Given the description of an element on the screen output the (x, y) to click on. 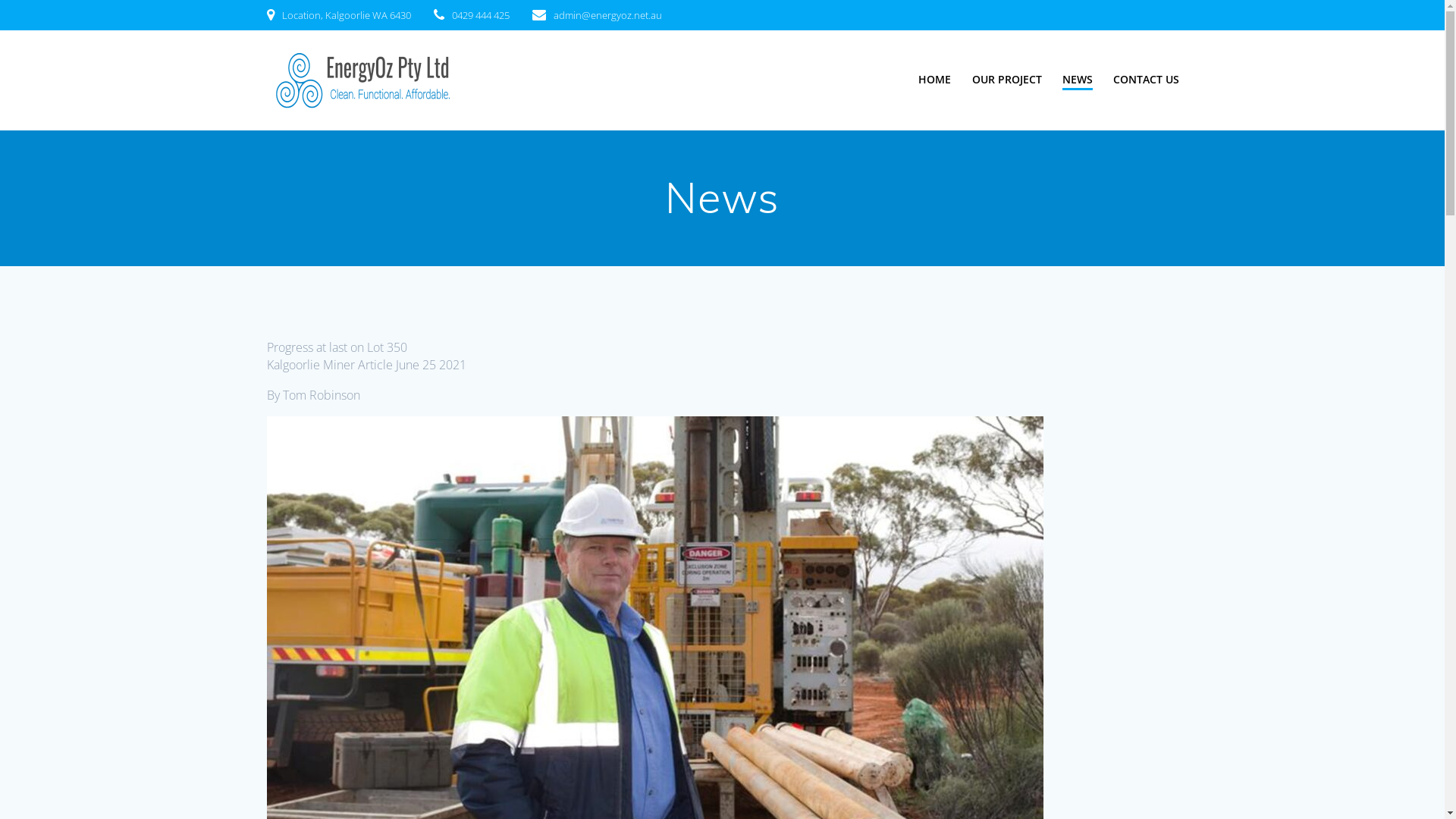
CONTACT US Element type: text (1146, 78)
HOME Element type: text (934, 78)
OUR PROJECT Element type: text (1006, 78)
NEWS Element type: text (1077, 80)
